Given the description of an element on the screen output the (x, y) to click on. 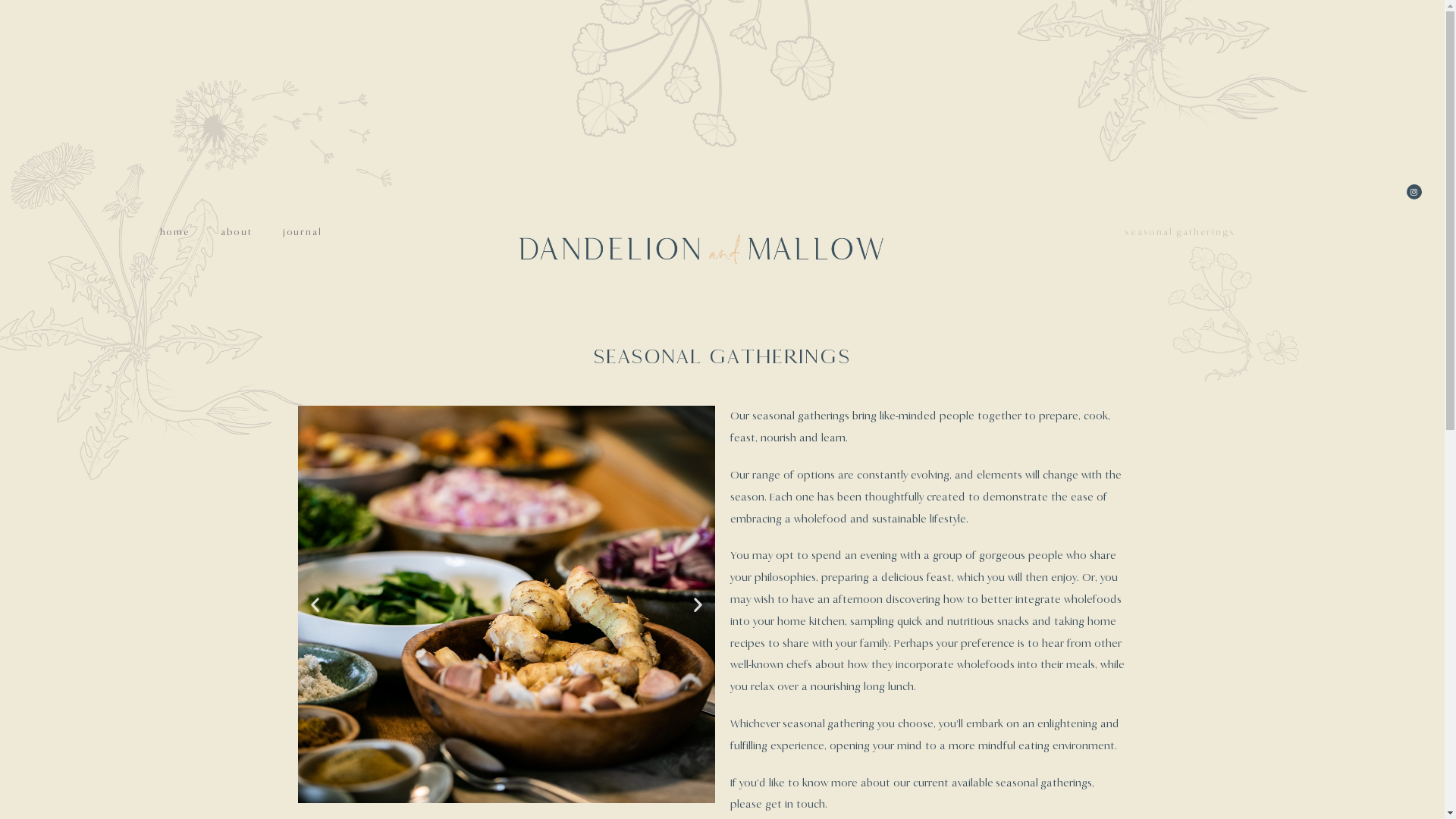
seasonal gatherings Element type: text (1179, 231)
journal Element type: text (302, 231)
home Element type: text (174, 231)
about Element type: text (236, 231)
